Given the description of an element on the screen output the (x, y) to click on. 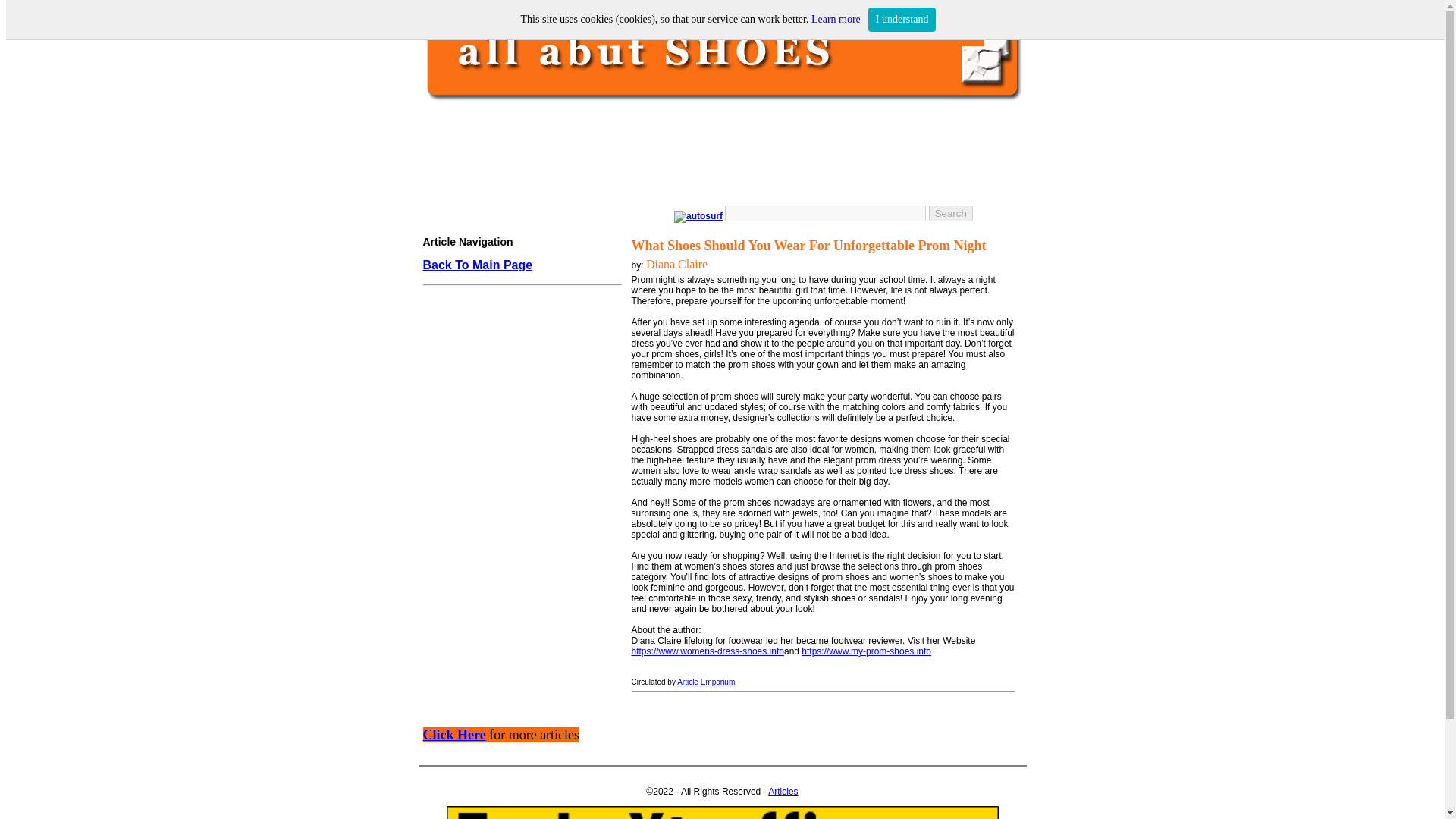
Articles (782, 791)
Back To Main Page (477, 265)
Search (950, 212)
Advertisement (718, 152)
I understand (901, 19)
Advertisement (517, 594)
Search (950, 212)
Click Here (454, 735)
Article Emporium (706, 682)
Learn more (835, 19)
